Given the description of an element on the screen output the (x, y) to click on. 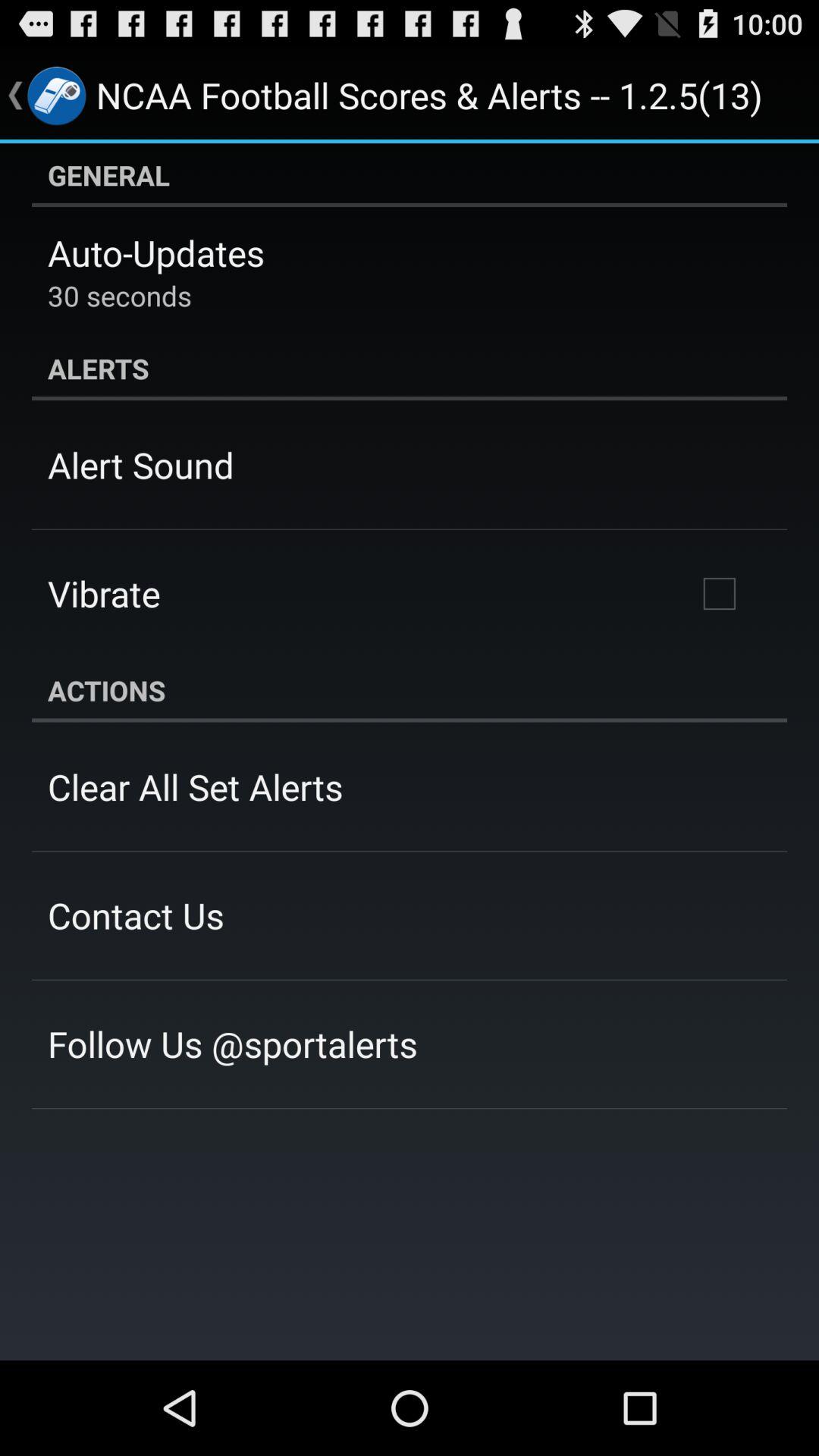
press the app above the alerts item (119, 295)
